Given the description of an element on the screen output the (x, y) to click on. 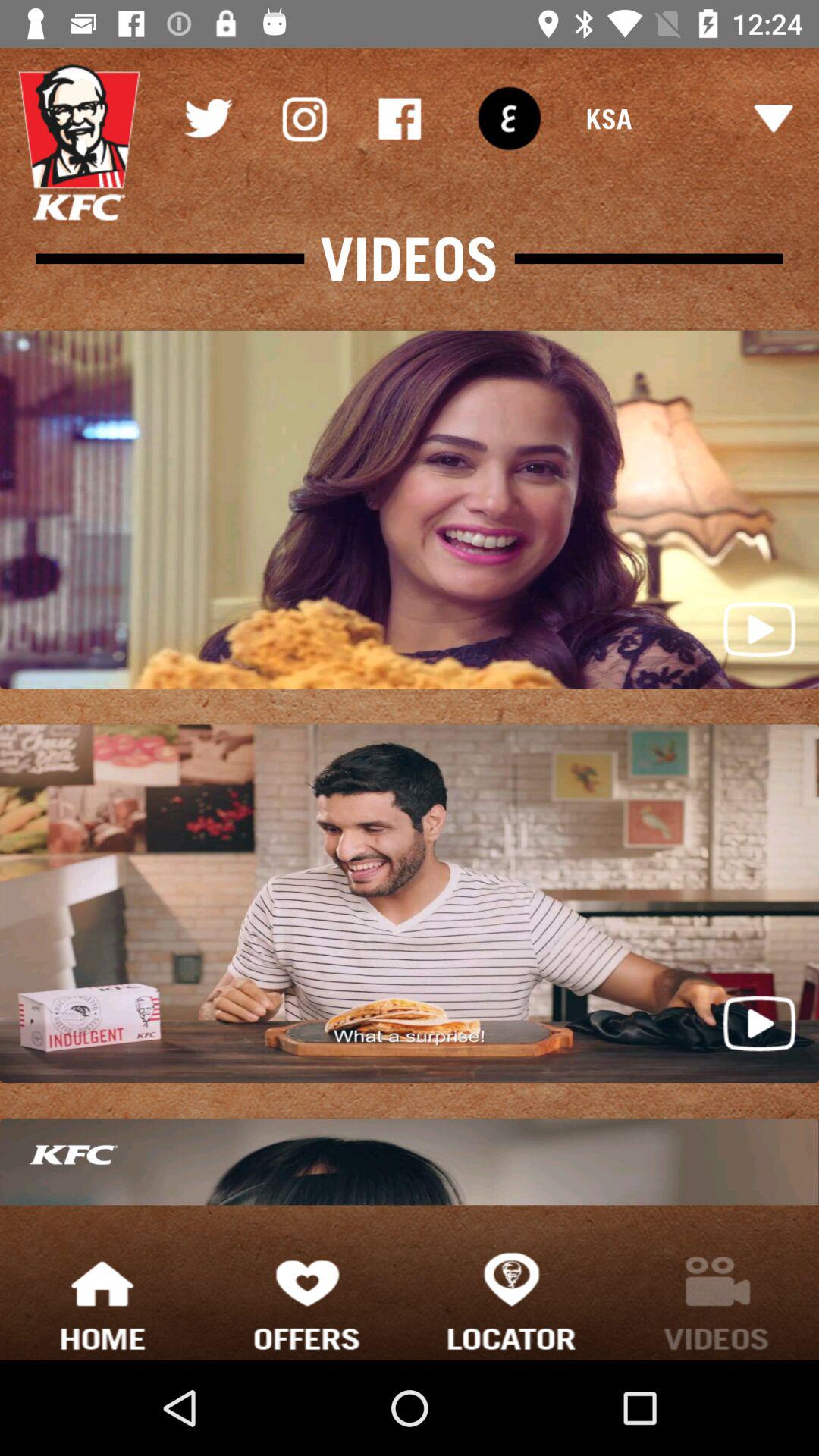
click the ksa item (688, 118)
